Given the description of an element on the screen output the (x, y) to click on. 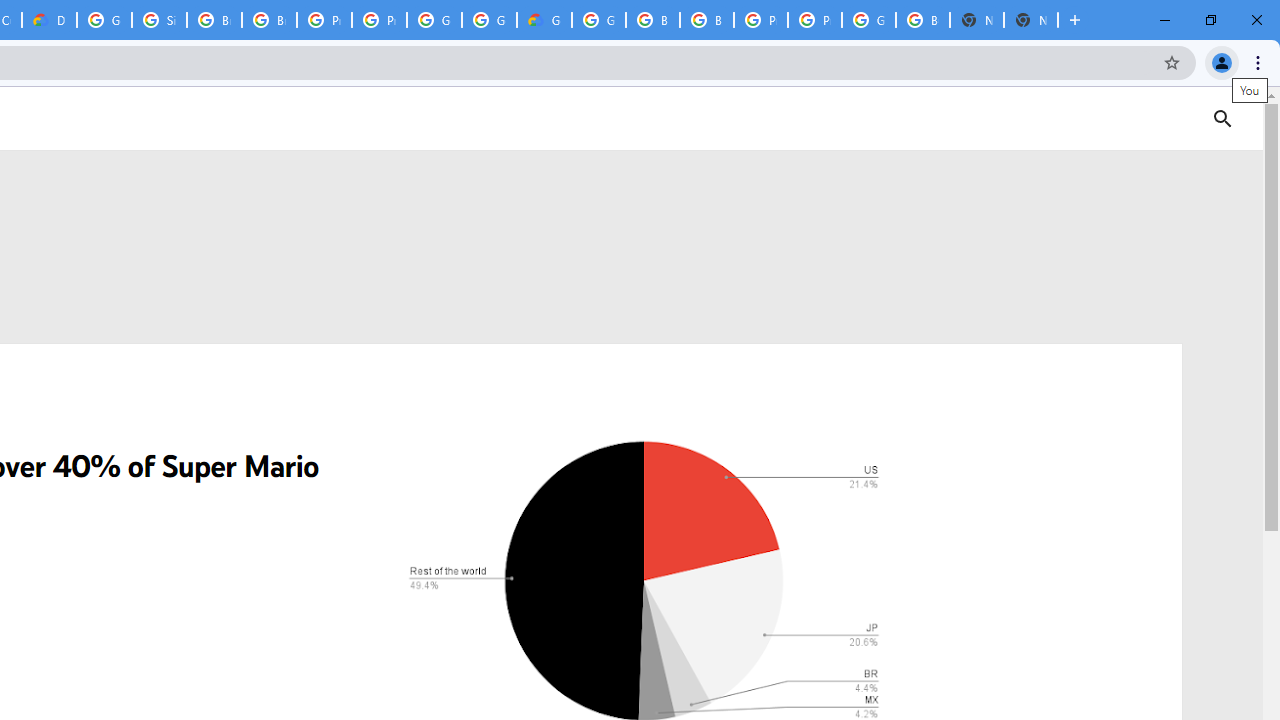
Google Cloud Platform (868, 20)
Browse Chrome as a guest - Computer - Google Chrome Help (268, 20)
Google Cloud Platform (103, 20)
Google Cloud Estimate Summary (544, 20)
